Given the description of an element on the screen output the (x, y) to click on. 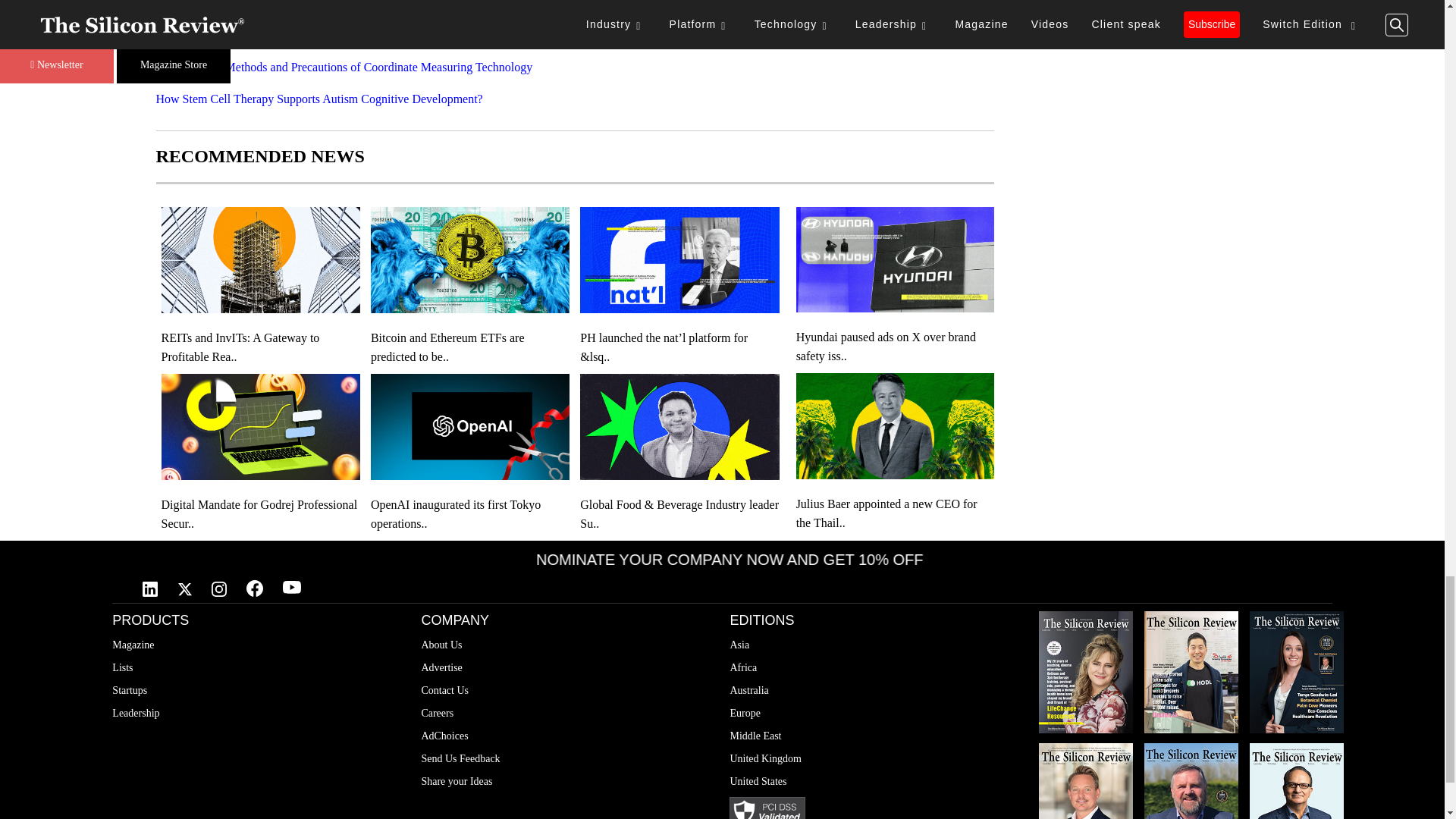
OpenAI inaugurated its first Tokyo operations center (470, 514)
Hyundai paused ads on X over brand safety issues (895, 346)
